Given the description of an element on the screen output the (x, y) to click on. 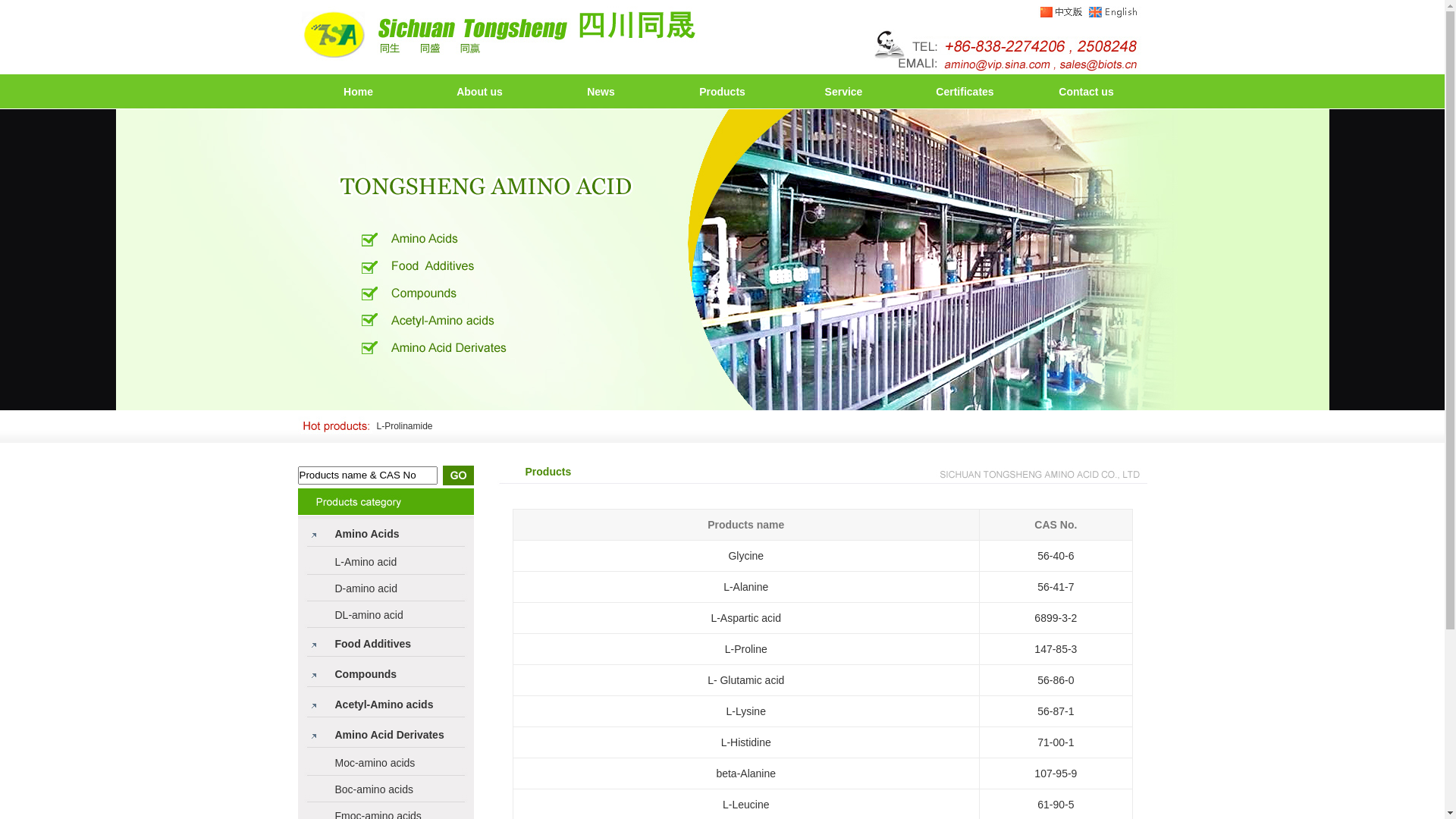
Products Element type: text (722, 91)
Food Additives Element type: text (373, 643)
Moc-amino acids Element type: text (375, 762)
L- Glutamic acid Element type: text (745, 679)
L-Lysine Element type: text (745, 711)
Compounds Element type: text (366, 674)
News Element type: text (600, 91)
beta-Alanine Element type: text (745, 773)
Amino Acids Element type: text (367, 533)
L-Aspartic acid Element type: text (745, 617)
L-Leucine Element type: text (745, 803)
Service Element type: text (843, 91)
Contact us Element type: text (1085, 91)
L-Prolinamide Element type: text (404, 425)
L-Amino acid Element type: text (366, 561)
Home Element type: text (358, 91)
D-amino acid Element type: text (366, 588)
L-Proline Element type: text (745, 649)
Amino Acid Derivates Element type: text (389, 734)
About us Element type: text (479, 91)
Glycine Element type: text (745, 555)
L-Alanine Element type: text (745, 586)
L-Histidine Element type: text (746, 741)
DL-amino acid Element type: text (369, 614)
Certificates Element type: text (964, 91)
Acetyl-Amino acids Element type: text (384, 704)
Boc-amino acids Element type: text (374, 789)
